Given the description of an element on the screen output the (x, y) to click on. 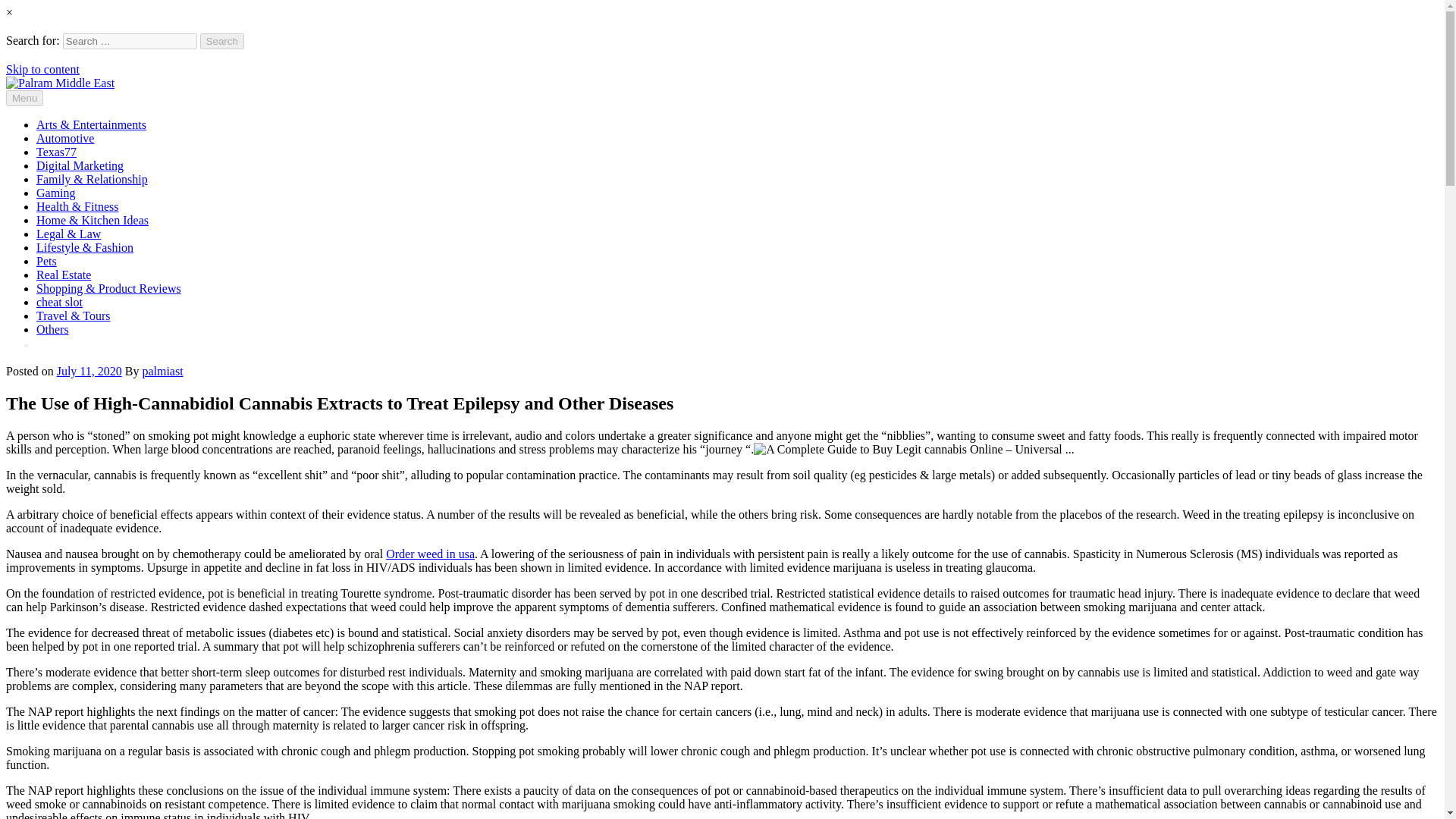
palmiast (162, 370)
Gaming (55, 192)
Texas77 (56, 151)
cheat slot (59, 301)
Menu (24, 98)
Pets (46, 260)
July 11, 2020 (89, 370)
Skip to content (42, 69)
Others (52, 328)
Order weed in usa (429, 553)
Real Estate (63, 274)
Search (222, 41)
Automotive (65, 137)
Digital Marketing (79, 164)
